Given the description of an element on the screen output the (x, y) to click on. 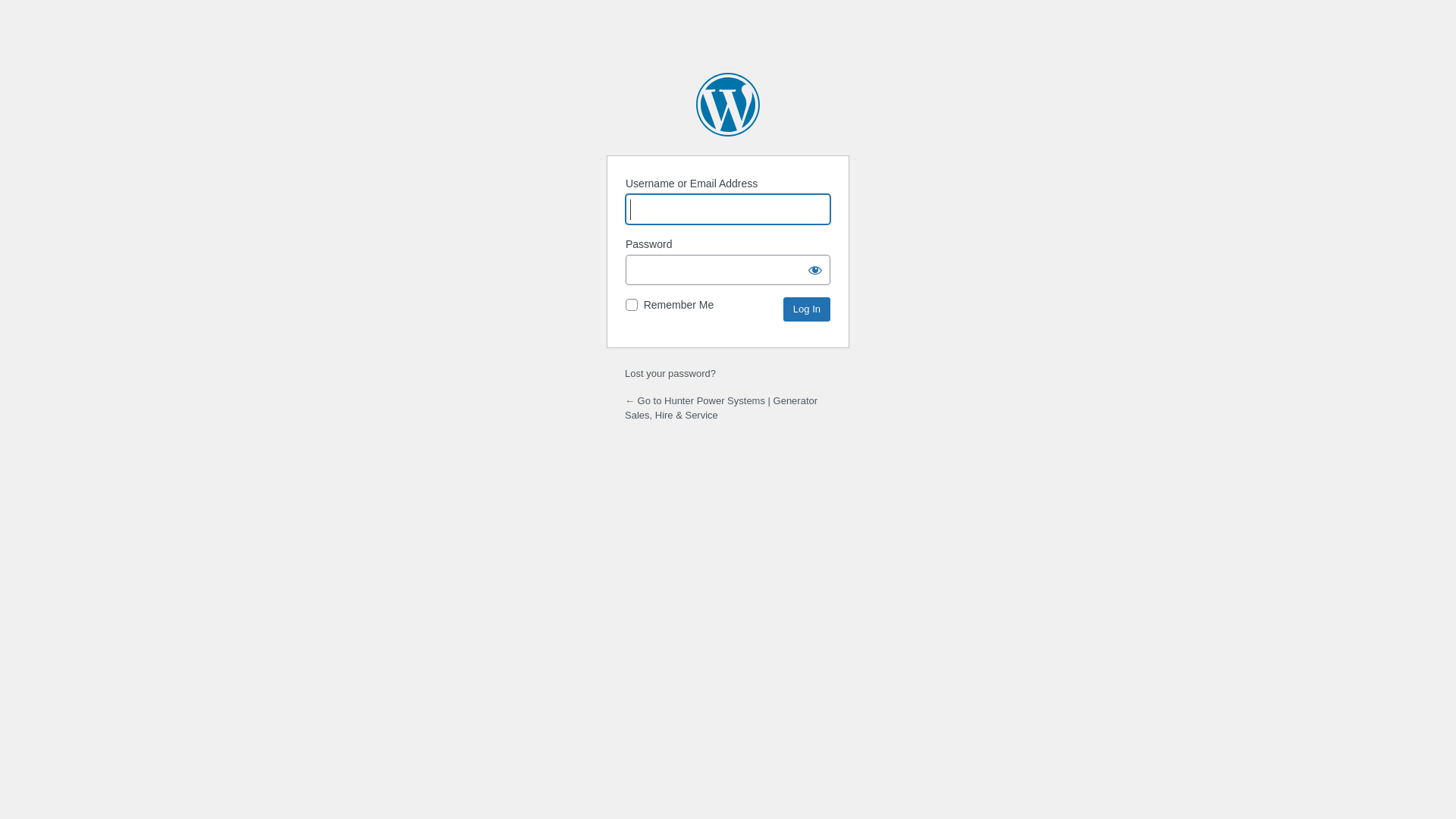
Powered by WordPress Element type: text (727, 104)
Lost your password? Element type: text (669, 373)
Log In Element type: text (806, 309)
